Given the description of an element on the screen output the (x, y) to click on. 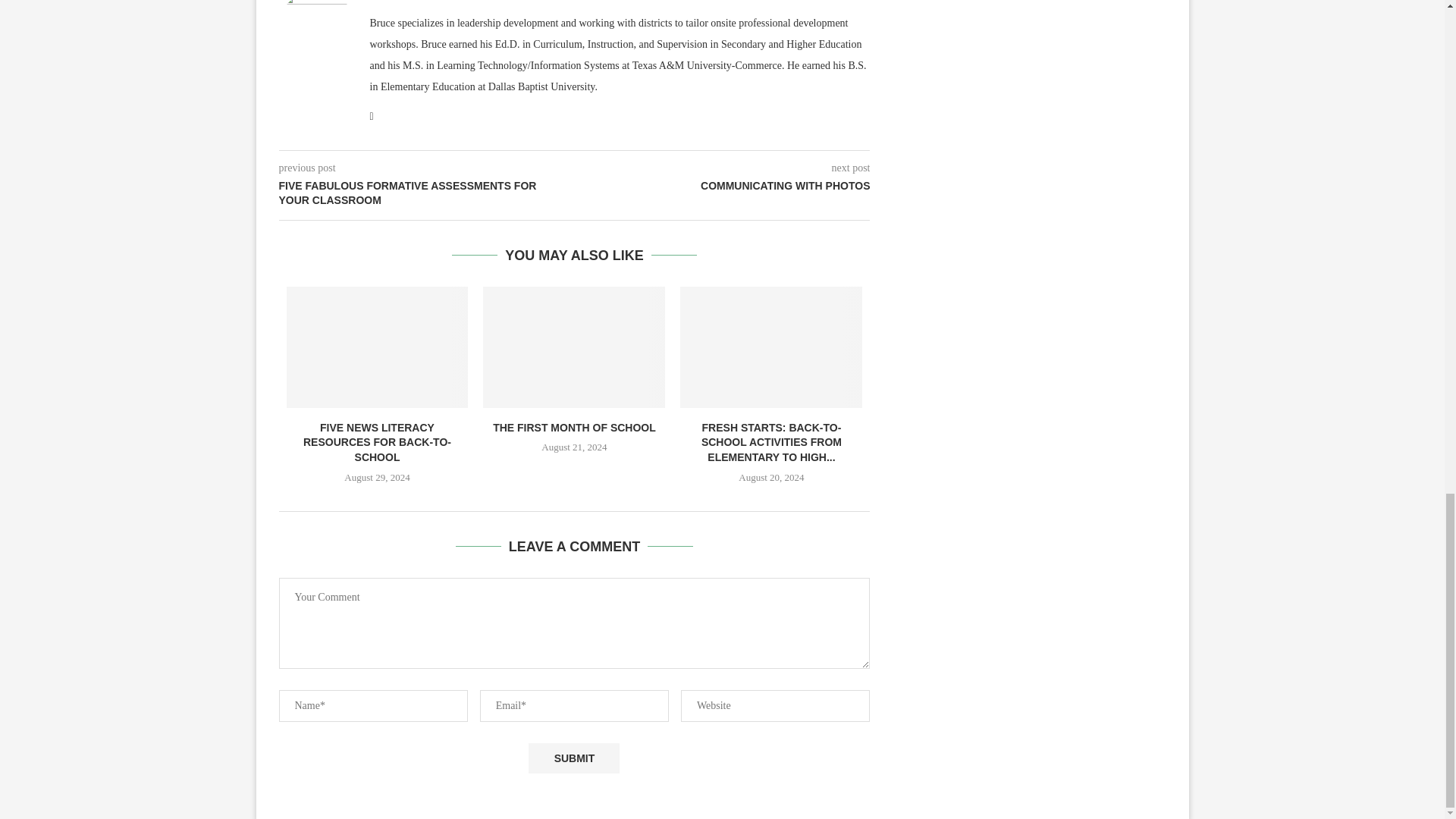
Five News Literacy Resources for Back-to-School (377, 346)
Submit (574, 757)
Author Dr. Bruce Ellis (415, 0)
The First Month of School (574, 346)
